Given the description of an element on the screen output the (x, y) to click on. 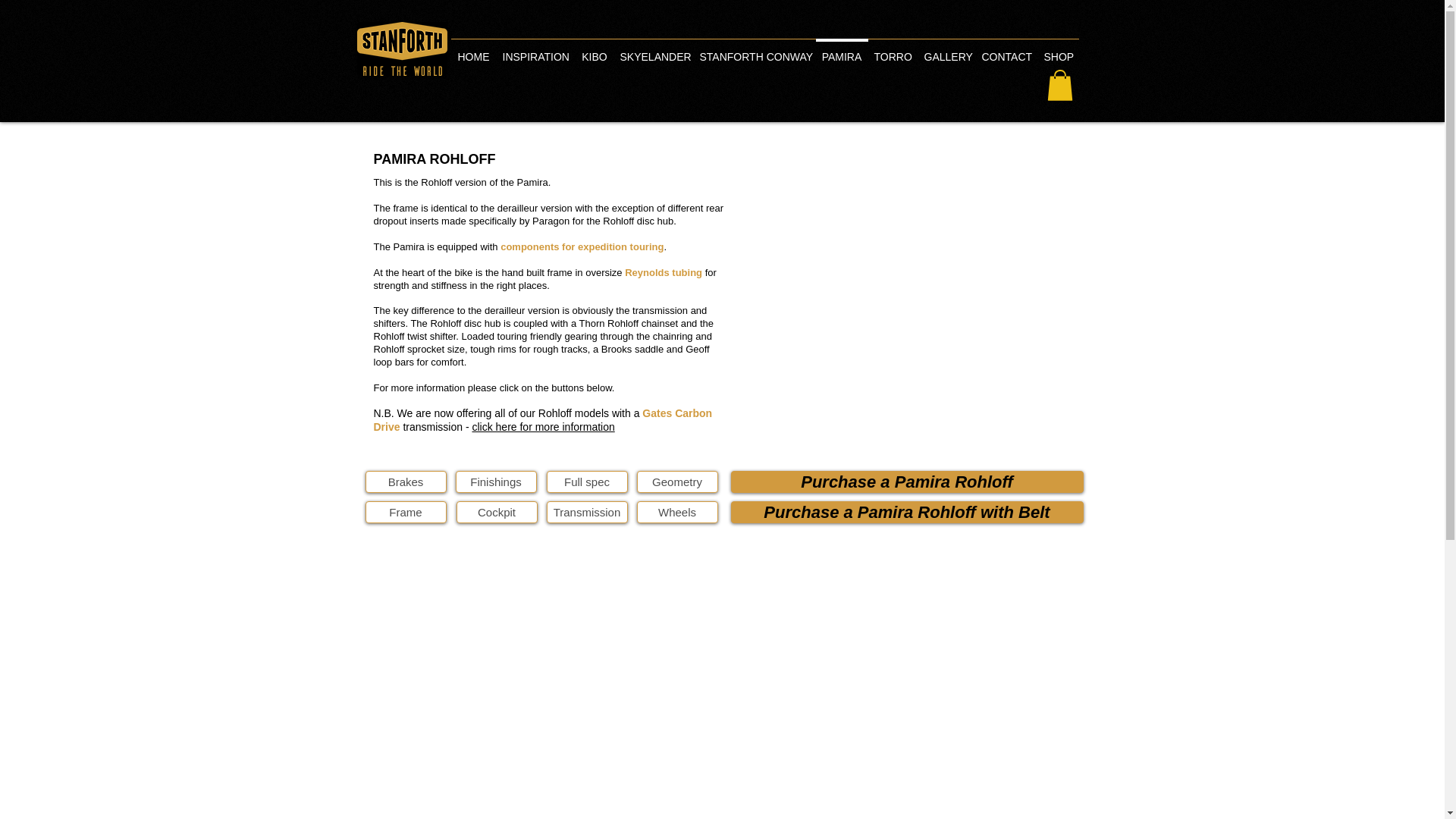
SKYELANDER (654, 49)
INSPIRATION (535, 49)
PAMIRA (841, 49)
TORRO (892, 49)
KIBO (593, 49)
HOME (472, 49)
STANFORTH CONWAY (754, 49)
